Given the description of an element on the screen output the (x, y) to click on. 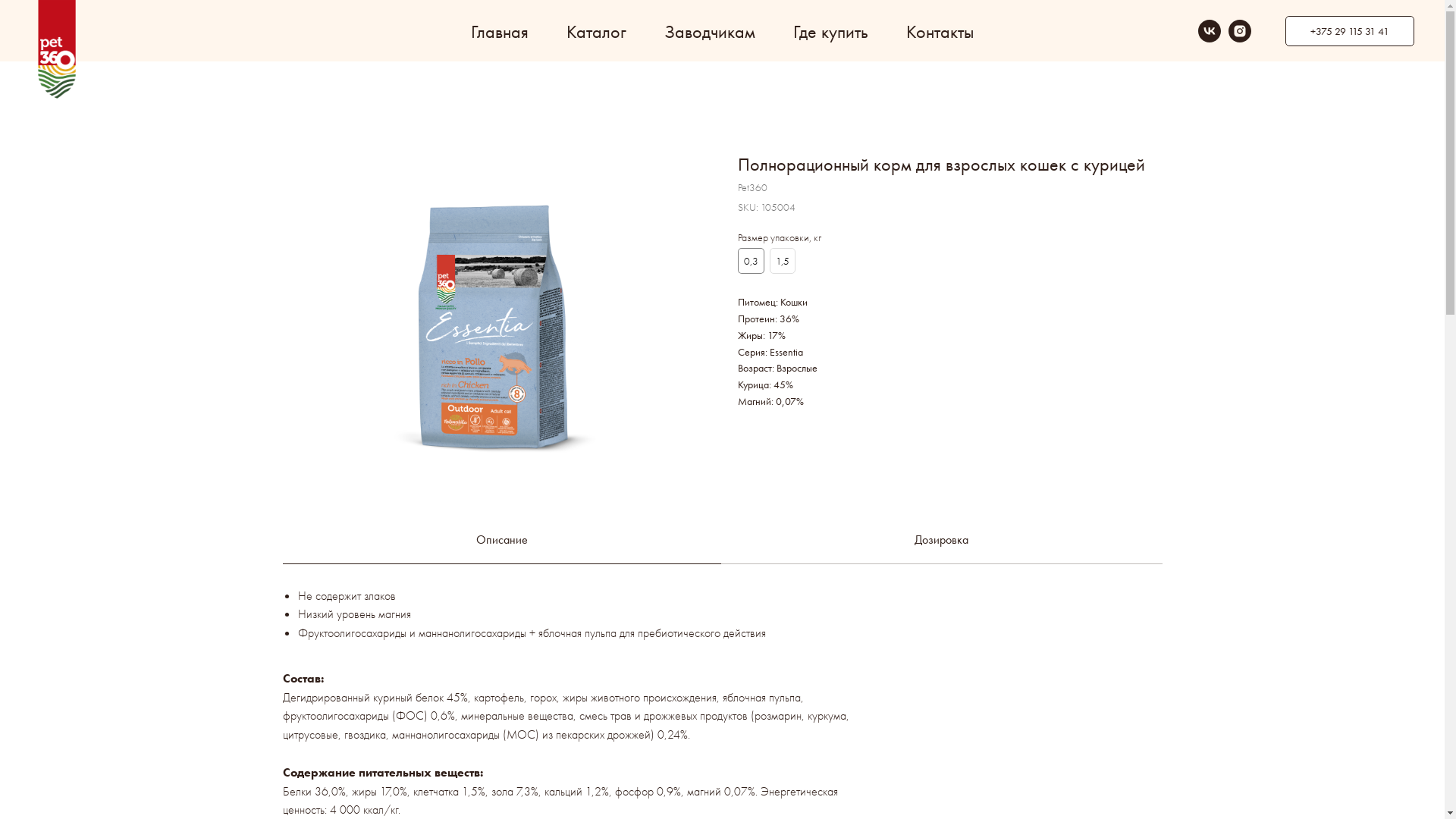
+375 29 115 31 41 Element type: text (1349, 30)
